Given the description of an element on the screen output the (x, y) to click on. 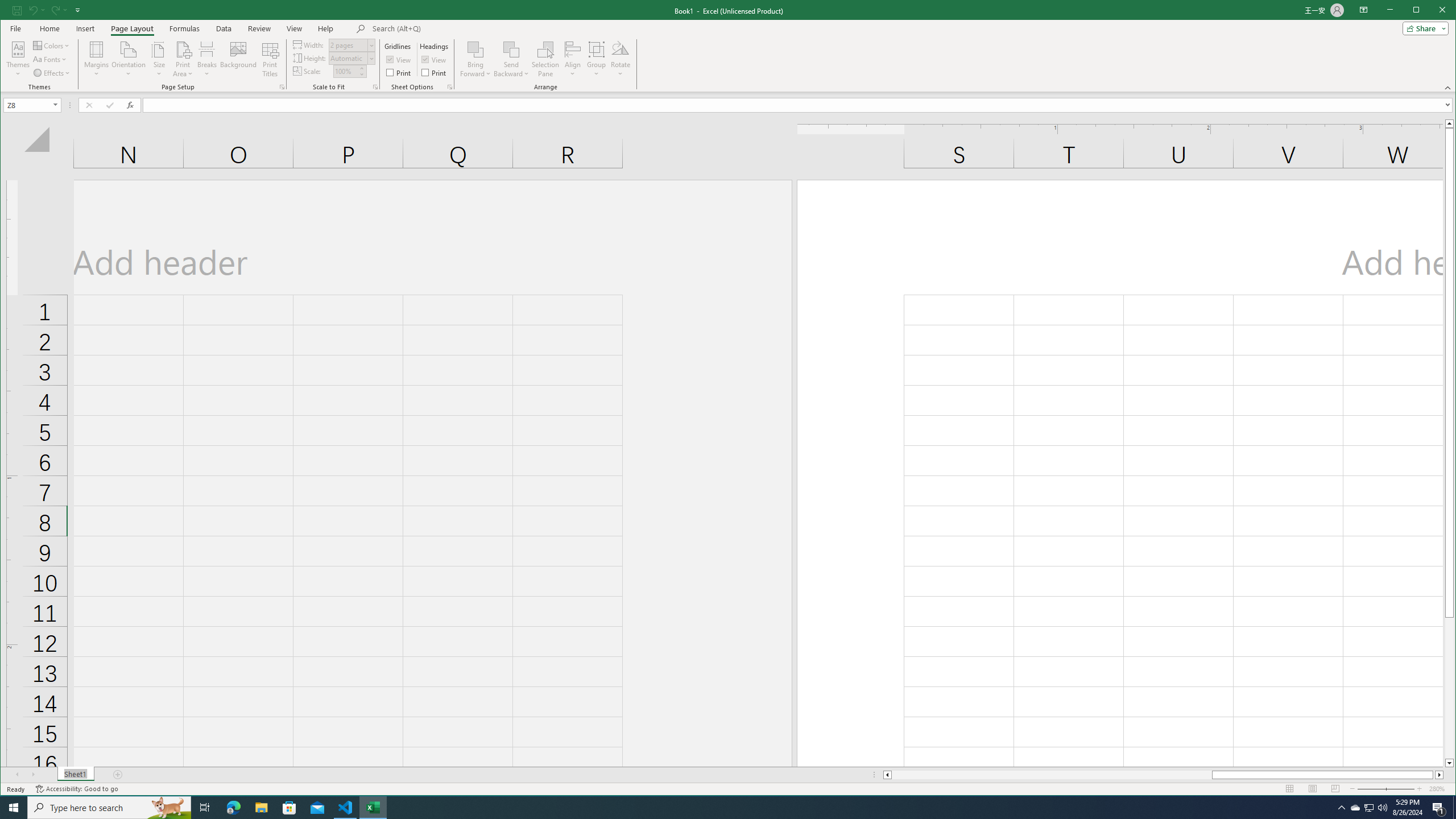
Type here to search (108, 807)
More (361, 68)
Background... (237, 59)
Height (1355, 807)
Page Setup (347, 58)
Width (375, 86)
Q2790: 100% (347, 45)
Sunset coming (1382, 807)
